Given the description of an element on the screen output the (x, y) to click on. 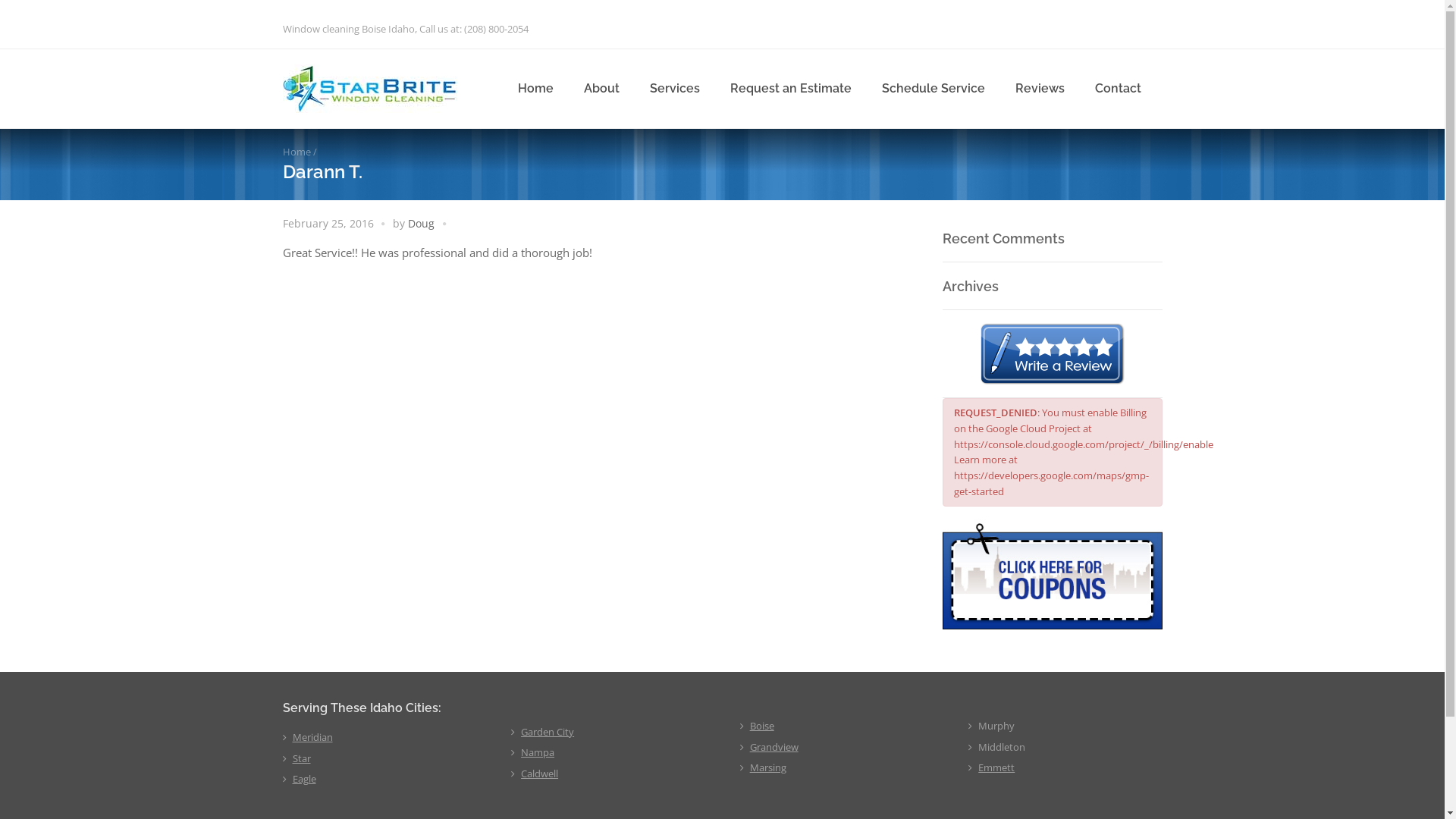
Home Element type: text (534, 88)
About Element type: text (601, 88)
Meridian Element type: text (312, 736)
Eagle Element type: text (304, 778)
YouTube Element type: hover (1149, 27)
Grandview Element type: text (773, 746)
Caldwell Element type: text (539, 773)
Facebook Element type: hover (1062, 27)
Home Element type: text (296, 151)
Marsing Element type: text (767, 767)
Star Element type: text (301, 758)
Request an Estimate Element type: text (790, 88)
Emmett Element type: text (996, 767)
Reviews Element type: text (1039, 88)
Garden City Element type: text (547, 731)
Nampa Element type: text (537, 752)
Contact Element type: text (1117, 88)
Services Element type: text (673, 88)
Schedule Service Element type: text (932, 88)
Boise Element type: text (761, 725)
Google+ Element type: hover (1091, 27)
Doug Element type: text (420, 223)
Twitter Element type: hover (1120, 27)
